Given the description of an element on the screen output the (x, y) to click on. 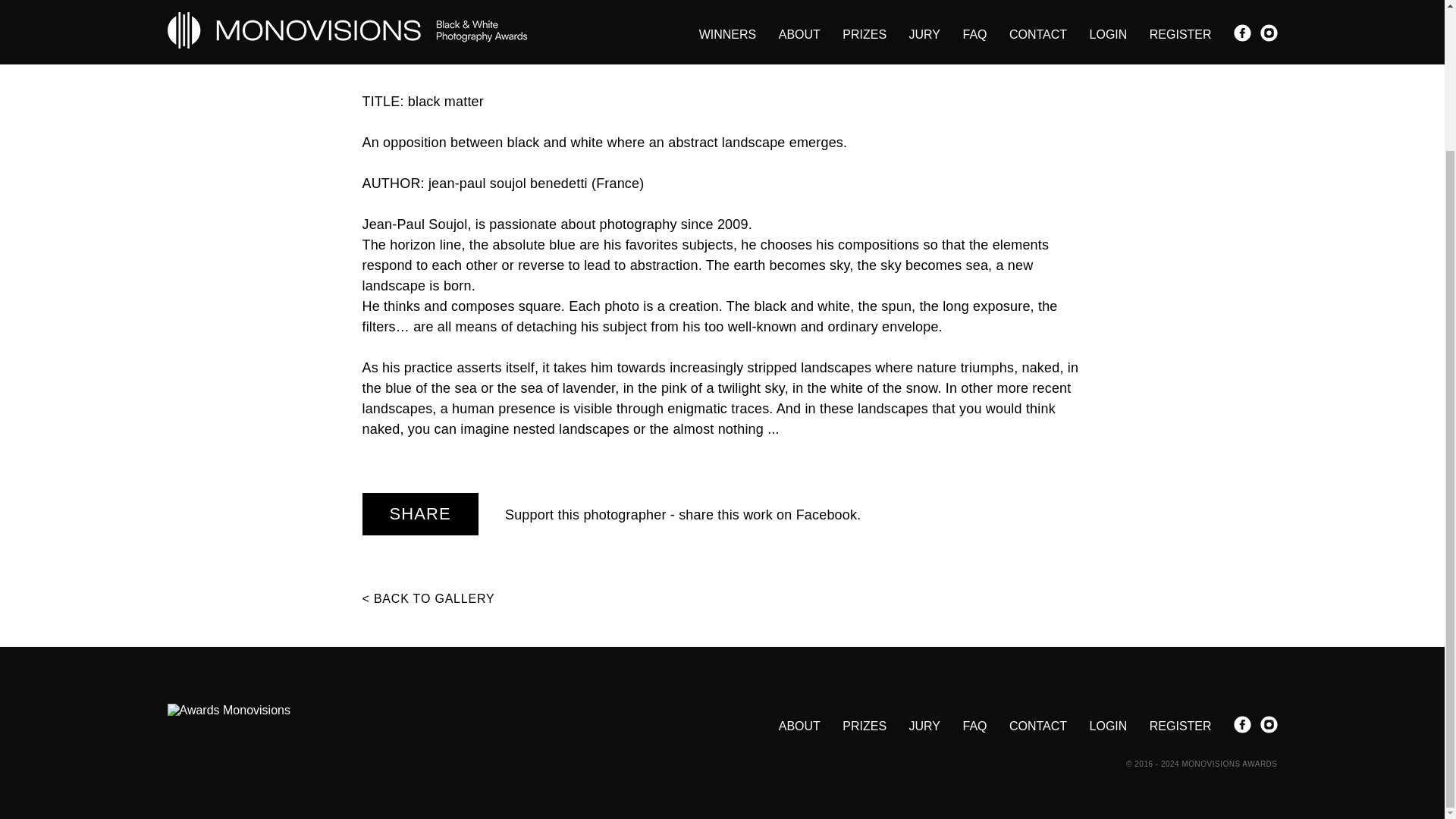
CONTACT (1038, 725)
JURY (924, 725)
LOGIN (1107, 725)
SHARE (420, 514)
PRIZES (864, 725)
REGISTER (1180, 725)
FAQ (974, 725)
ABOUT (799, 725)
